Given the description of an element on the screen output the (x, y) to click on. 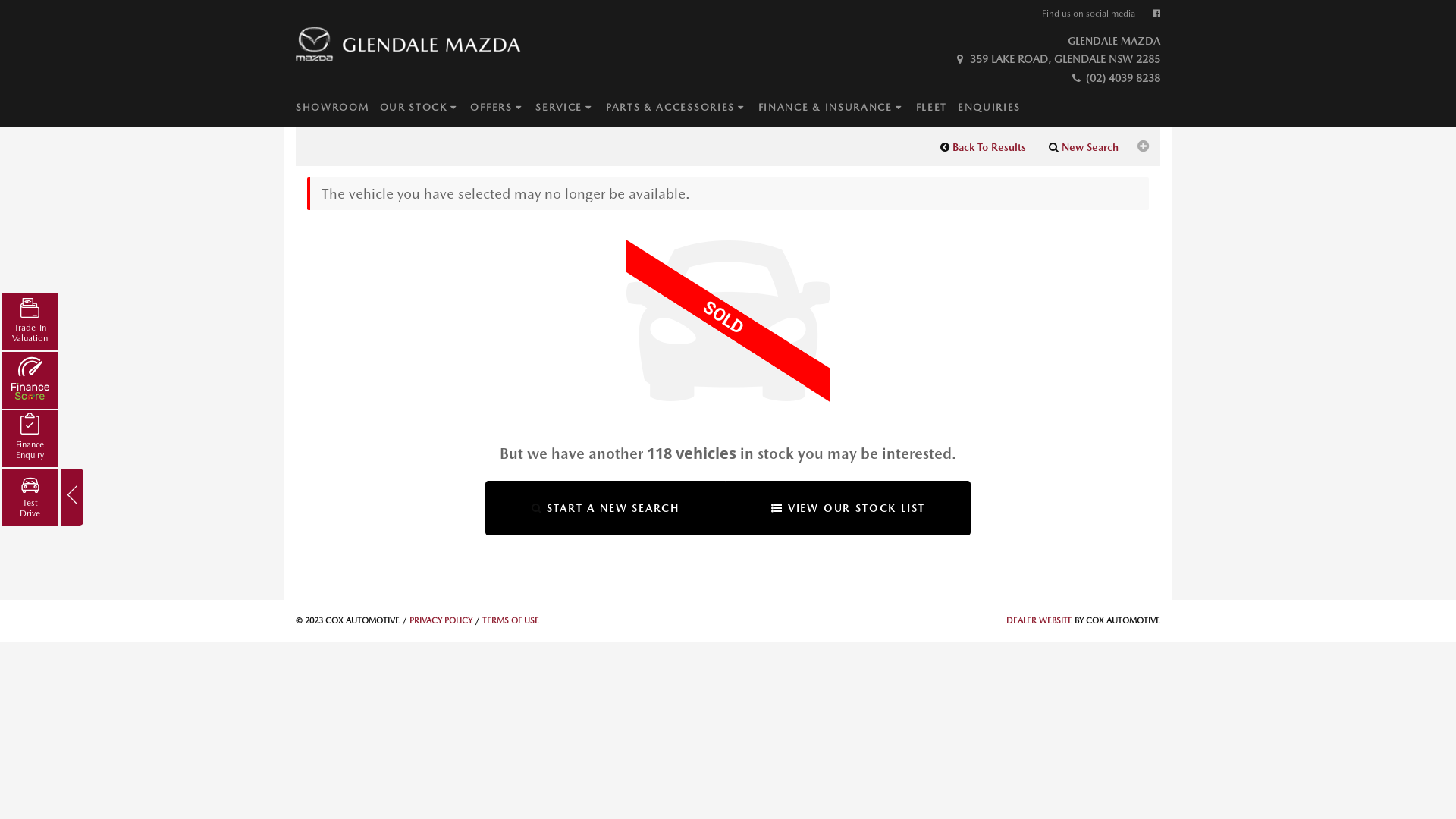
Finance
Enquiry Element type: text (29, 438)
OUR STOCK Element type: text (424, 107)
Trade-In
Valuation Element type: text (29, 321)
SHOWROOM Element type: text (337, 107)
(02) 4039 8238 Element type: text (1114, 78)
ENQUIRIES Element type: text (994, 107)
SERVICE Element type: text (570, 107)
VIEW OUR STOCK LIST Element type: text (847, 507)
FLEET Element type: text (936, 107)
PRIVACY POLICY Element type: text (440, 620)
FINANCE & INSURANCE Element type: text (837, 107)
START A NEW SEARCH Element type: text (605, 507)
Facebook Element type: hover (1156, 13)
TERMS OF USE Element type: text (510, 620)
New Search Element type: text (1083, 147)
PARTS & ACCESSORIES Element type: text (681, 107)
OFFERS Element type: text (502, 107)
359 LAKE ROAD, GLENDALE NSW 2285 Element type: text (1056, 59)
DEALER WEBSITE Element type: text (1039, 620)
Test
Drive Element type: text (29, 496)
Back To Results Element type: text (982, 147)
